Given the description of an element on the screen output the (x, y) to click on. 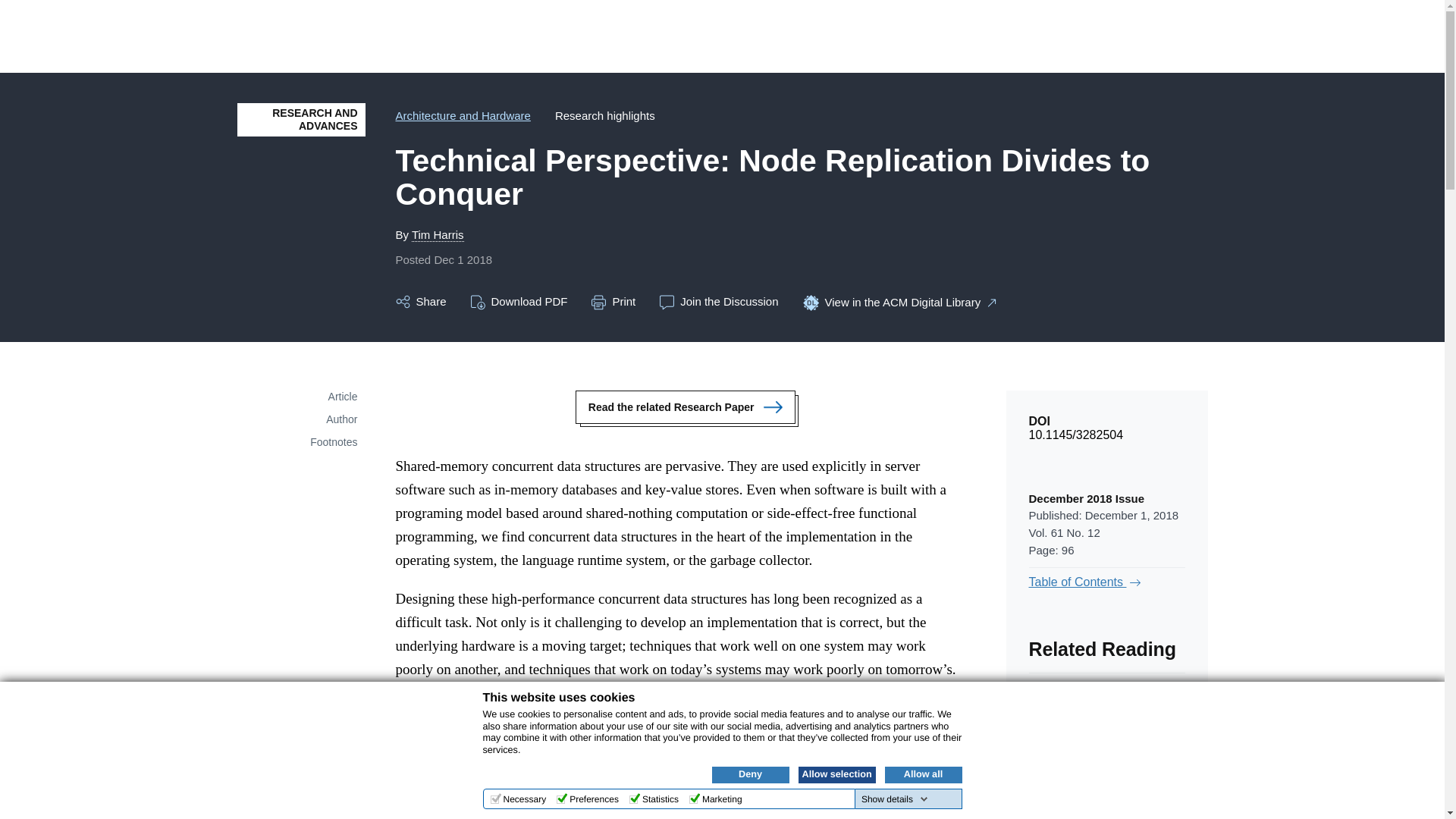
Deny (750, 774)
Allow selection (836, 774)
Allow all (921, 774)
Show details (895, 799)
